Given the description of an element on the screen output the (x, y) to click on. 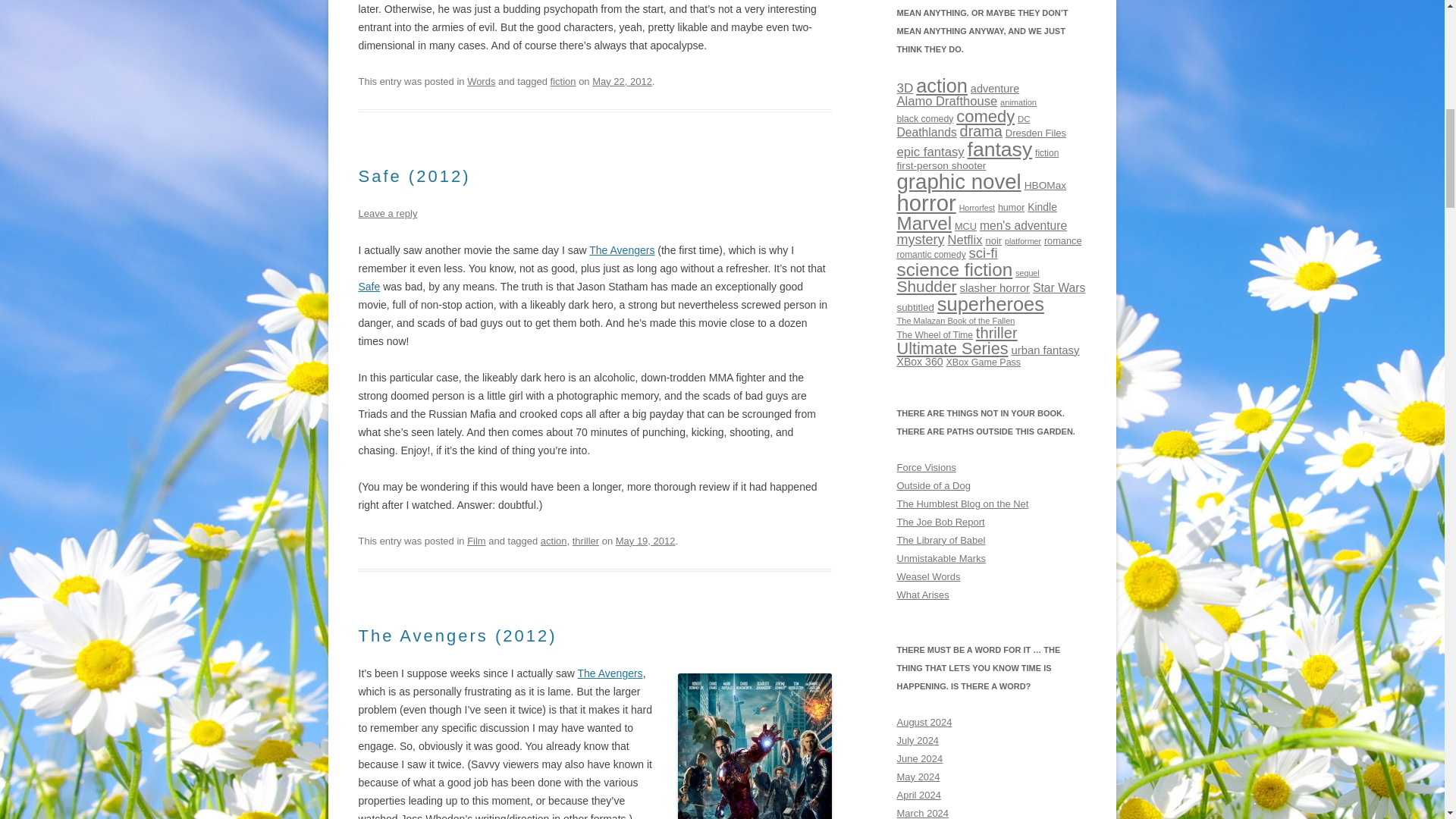
The Avengers (621, 250)
thriller (585, 541)
May 22, 2012 (622, 81)
May 19, 2012 (645, 541)
action (553, 541)
fiction (563, 81)
The Avengers (609, 673)
Leave a reply (387, 213)
